Given the description of an element on the screen output the (x, y) to click on. 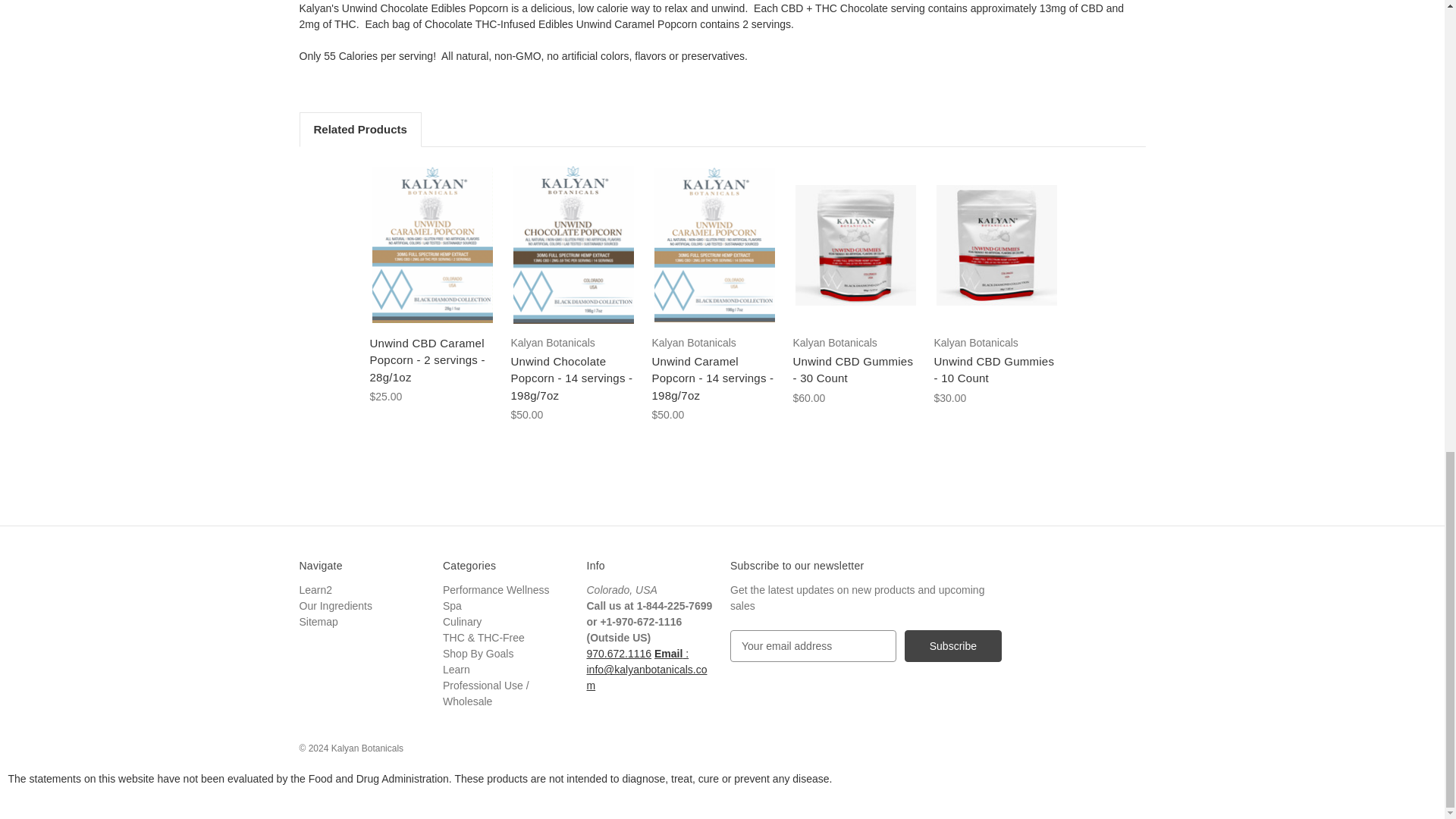
Unwind Caramel Popcorn (713, 244)
Unwind CBD Gummies - 30 Count (854, 245)
Subscribe (952, 645)
Unwind CBD Gummies - 10 Count (996, 245)
